Given the description of an element on the screen output the (x, y) to click on. 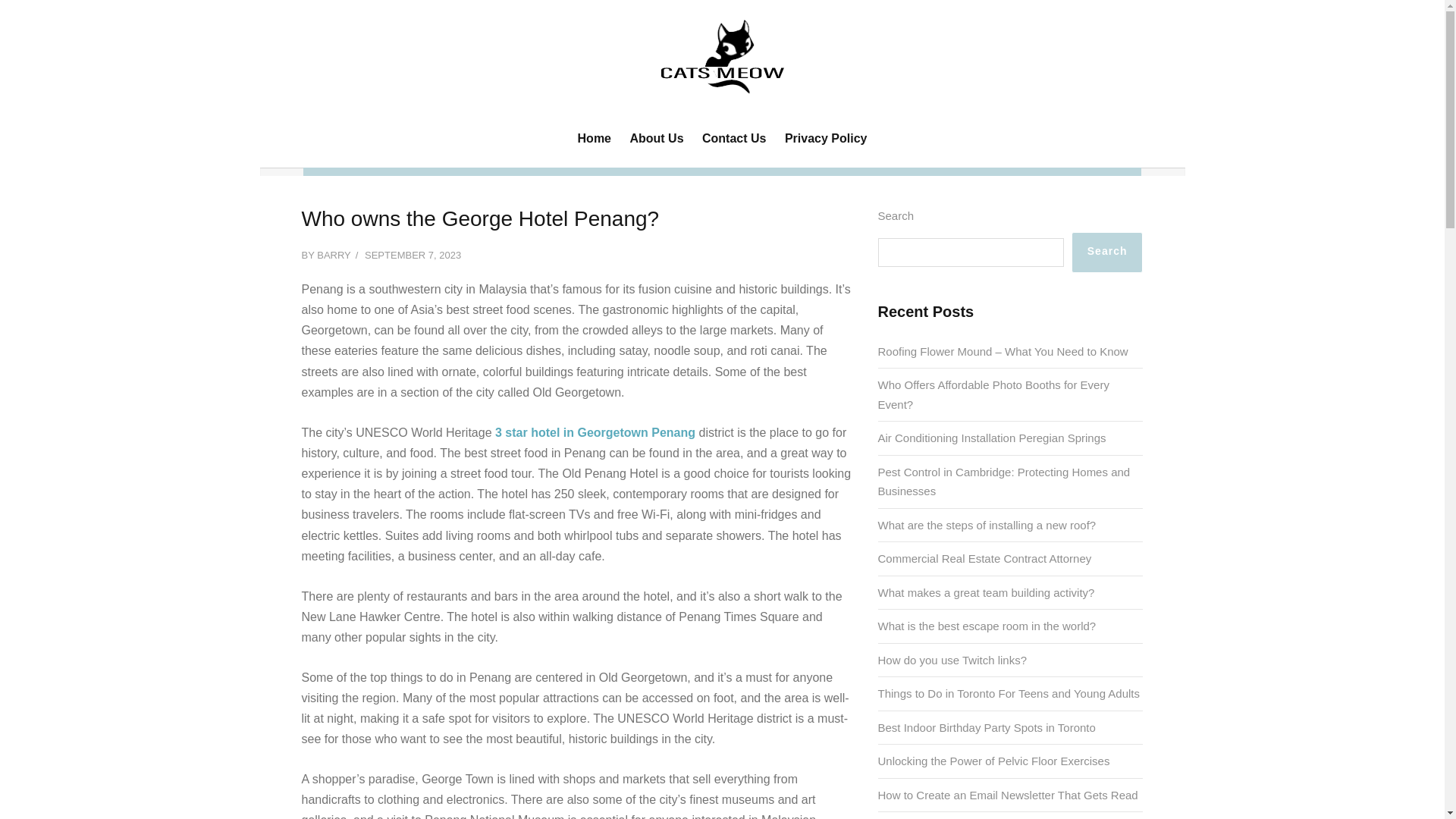
Best Indoor Birthday Party Spots in Toronto (986, 727)
3 star hotel in Georgetown Penang (595, 431)
BARRY (333, 255)
What makes a great team building activity? (985, 592)
Search (1106, 251)
What are the steps of installing a new roof? (986, 524)
Who Offers Affordable Photo Booths for Every Event? (993, 394)
Privacy Policy (825, 137)
Commercial Real Estate Contract Attorney (984, 558)
What is the best escape room in the world? (986, 625)
SEPTEMBER 7, 2023 (413, 255)
How to Create an Email Newsletter That Gets Read (1007, 794)
How do you use Twitch links? (952, 659)
Things to Do in Toronto For Teens and Young Adults (1008, 693)
Pest Control in Cambridge: Protecting Homes and Businesses (1004, 481)
